Given the description of an element on the screen output the (x, y) to click on. 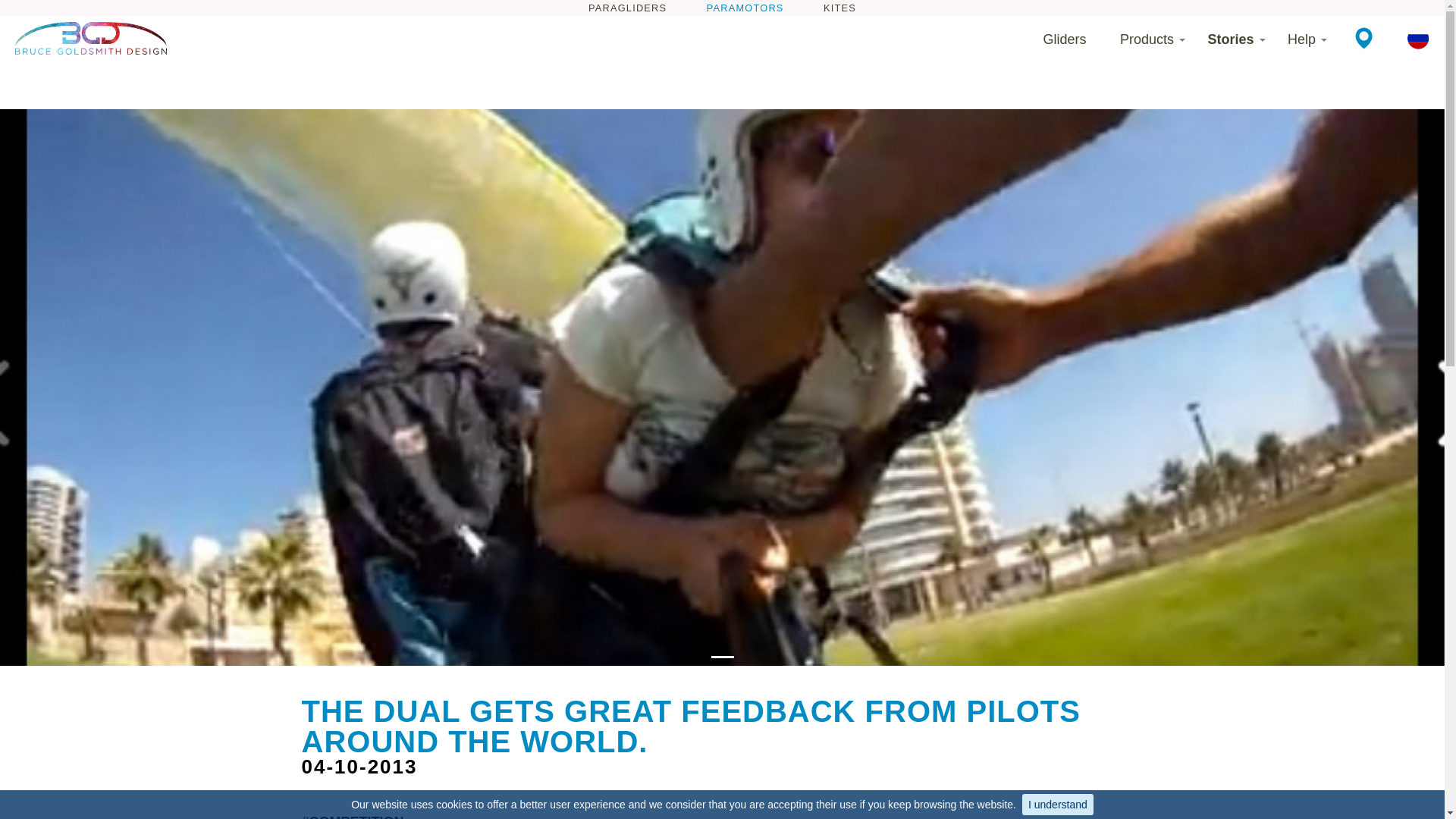
Airwave Kiteboarding (840, 7)
KITES (840, 7)
PARAMOTORS (745, 7)
BGD Paragliders (627, 7)
I understand (1057, 803)
Gliders (1064, 38)
Bruce Goldsmith Design (90, 38)
Russian (1417, 38)
BGD Paramotors (745, 7)
PARAGLIDERS (627, 7)
